Given the description of an element on the screen output the (x, y) to click on. 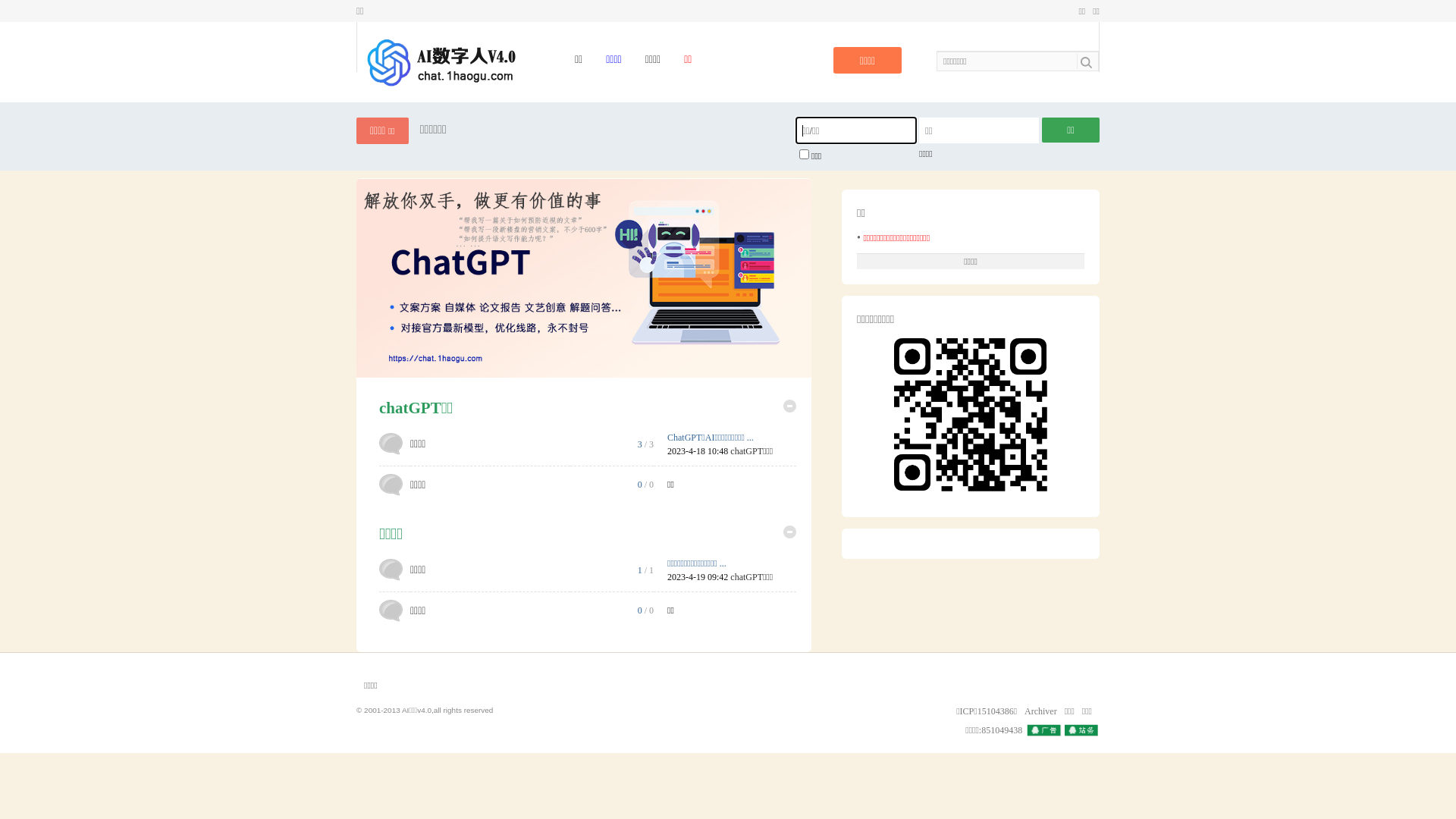
QQ Element type: hover (1062, 730)
Archiver Element type: text (1040, 711)
true Element type: text (1089, 61)
